Given the description of an element on the screen output the (x, y) to click on. 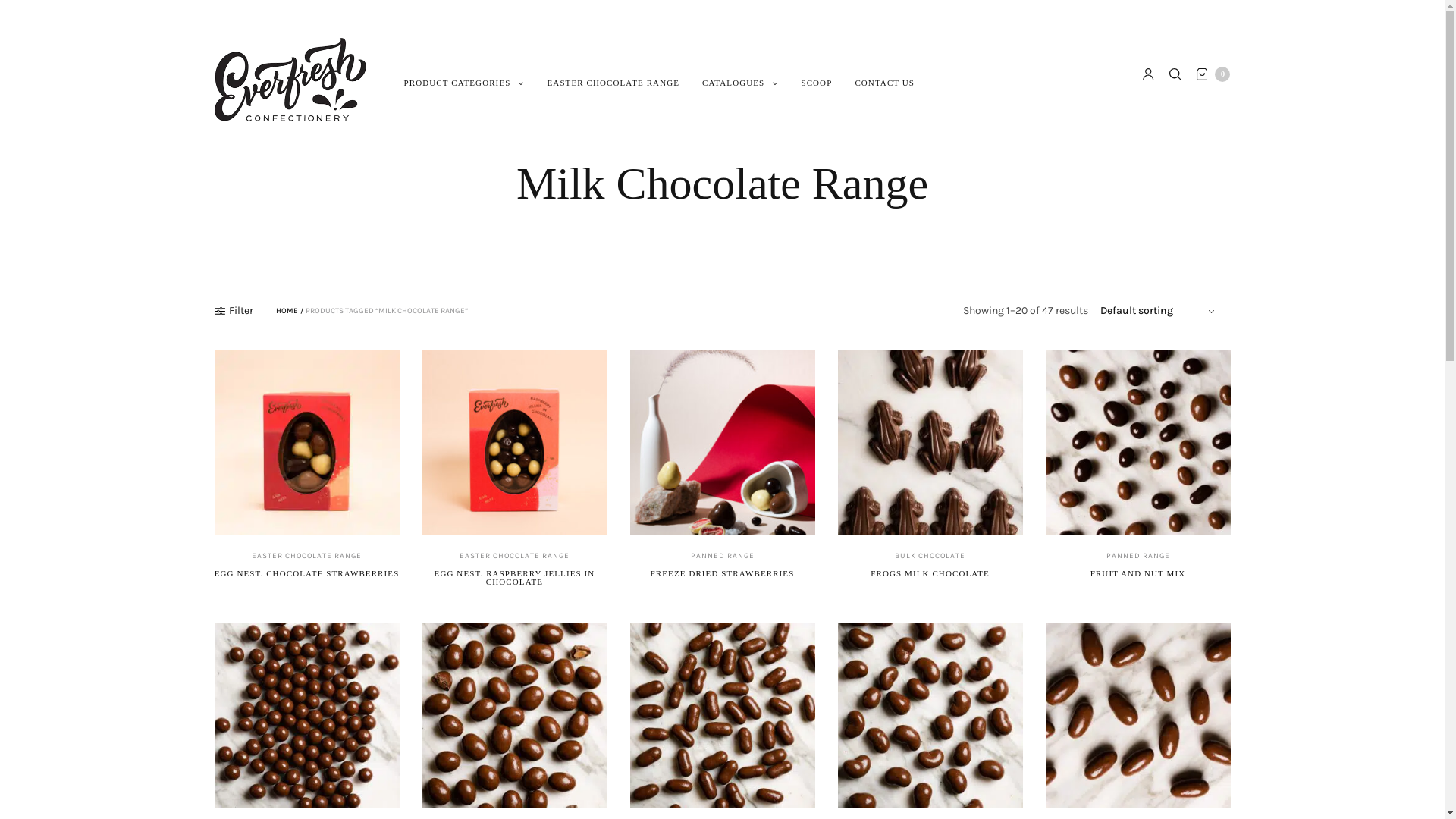
EGG NEST. CHOCOLATE STRAWBERRIES Element type: text (306, 572)
0 Element type: text (1213, 73)
Fruit and Nut Mix Element type: hover (1137, 441)
CATALOGUES Element type: text (740, 83)
Milk Bullets Element type: hover (721, 714)
Freeze dried strawberries Element type: hover (721, 441)
Search Element type: text (19, 6)
Egg Nest. Chocolate Strawberries Element type: hover (305, 441)
EGG NEST. RASPBERRY JELLIES IN CHOCOLATE Element type: text (514, 577)
Milk Cashews Element type: hover (929, 714)
FRUIT AND NUT MIX Element type: text (1138, 572)
Milk Choc Choco Babies Element type: hover (1137, 714)
Irish Cream Coffee Beans Element type: hover (305, 714)
Milk Almonds Element type: hover (513, 714)
HOME Element type: text (287, 310)
FROGS MILK CHOCOLATE Element type: text (929, 572)
Egg Nest. Raspberry Jellies in Chocolate Element type: hover (513, 441)
FREEZE DRIED STRAWBERRIES Element type: text (722, 572)
PRODUCT CATEGORIES Element type: text (463, 83)
Frogs Milk Chocolate Element type: hover (929, 441)
EASTER CHOCOLATE RANGE Element type: text (613, 83)
CONTACT US Element type: text (884, 83)
SCOOP Element type: text (815, 83)
Filter Element type: text (232, 310)
